Given the description of an element on the screen output the (x, y) to click on. 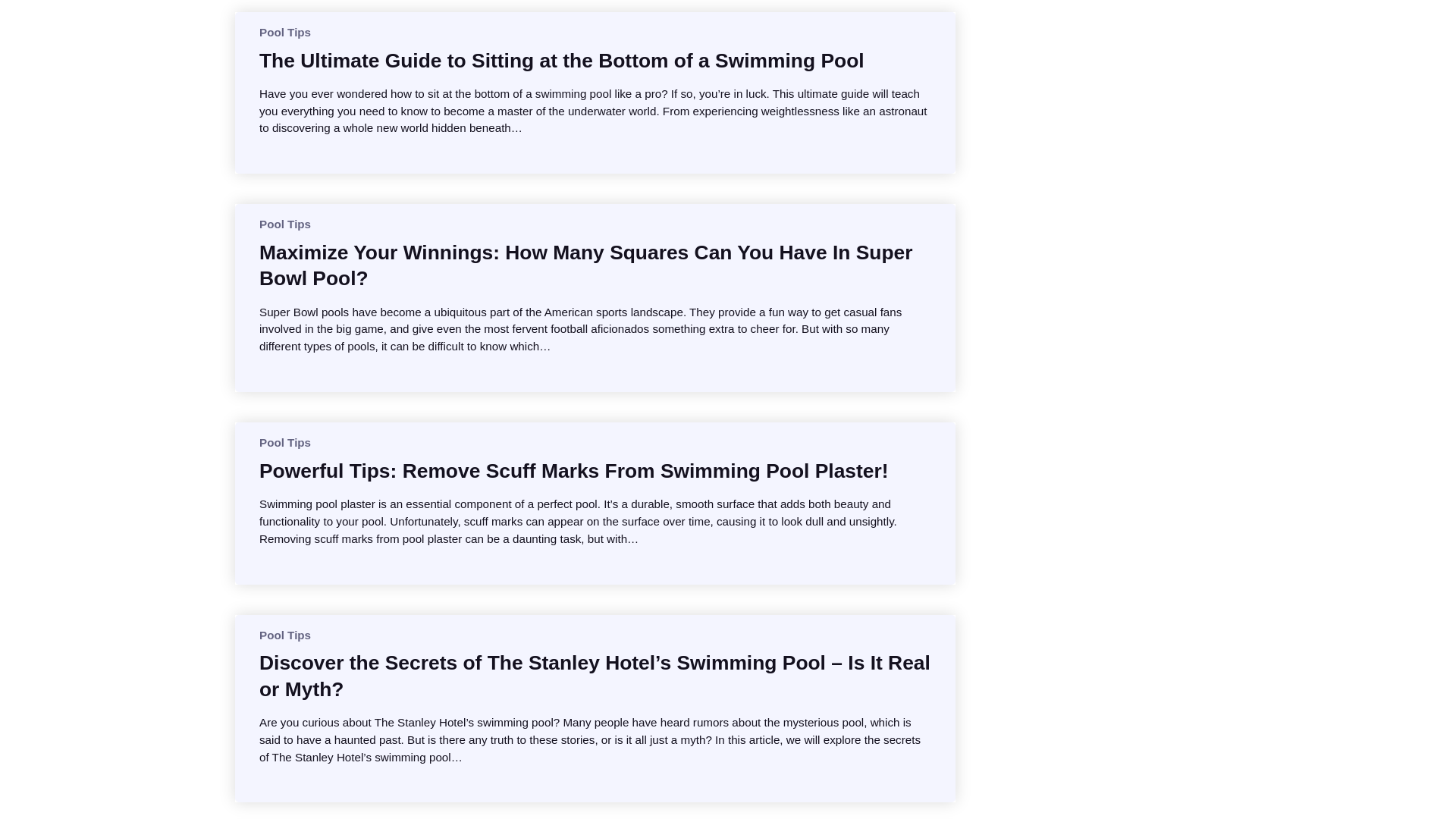
Pool Tips (285, 441)
Pool Tips (285, 31)
Pool Tips (285, 223)
Pool Tips (285, 634)
